Given the description of an element on the screen output the (x, y) to click on. 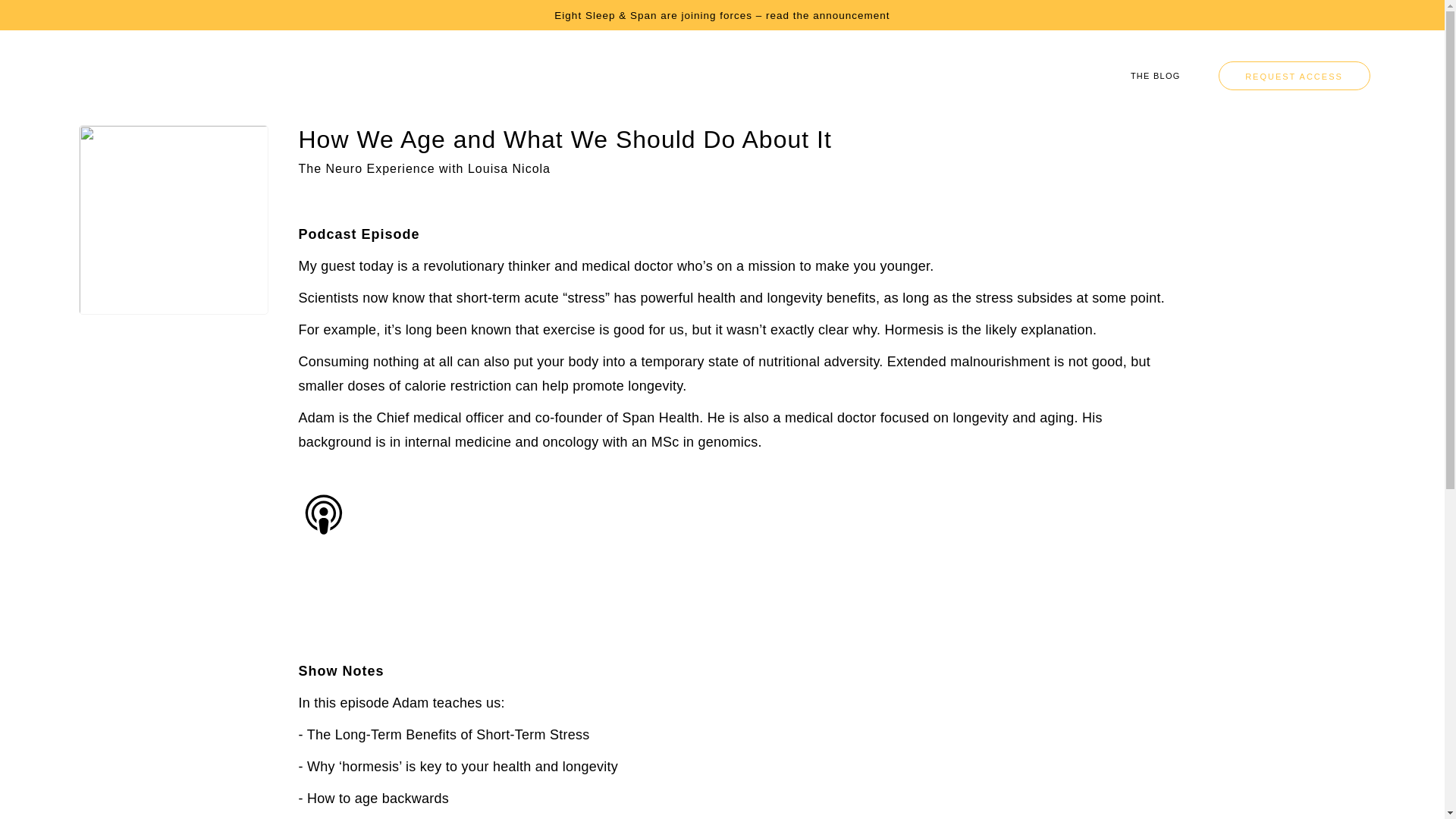
REQUEST ACCESS (1293, 75)
THE BLOG (1156, 75)
